Given the description of an element on the screen output the (x, y) to click on. 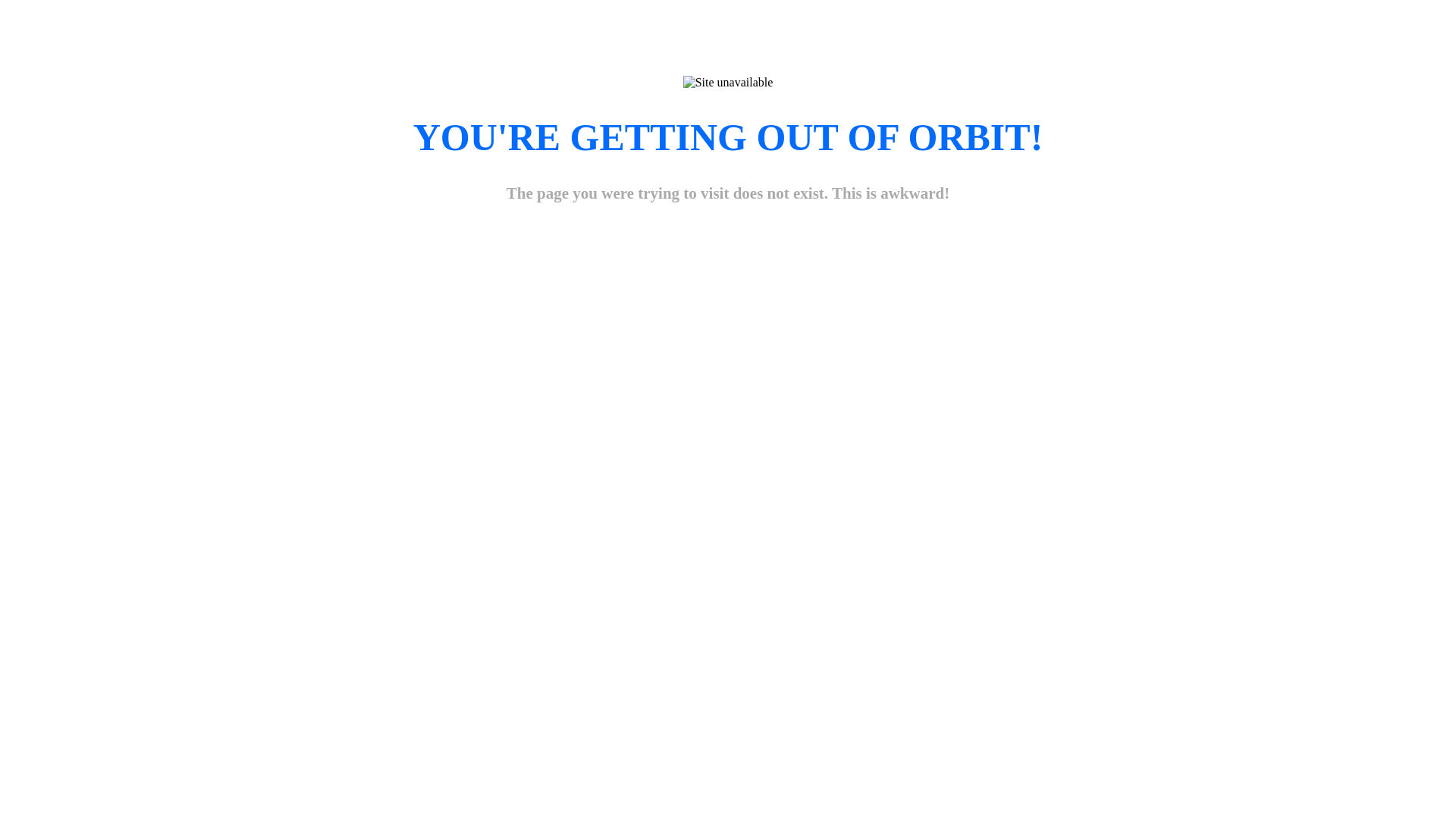
Site unavailable Element type: hover (728, 82)
